Given the description of an element on the screen output the (x, y) to click on. 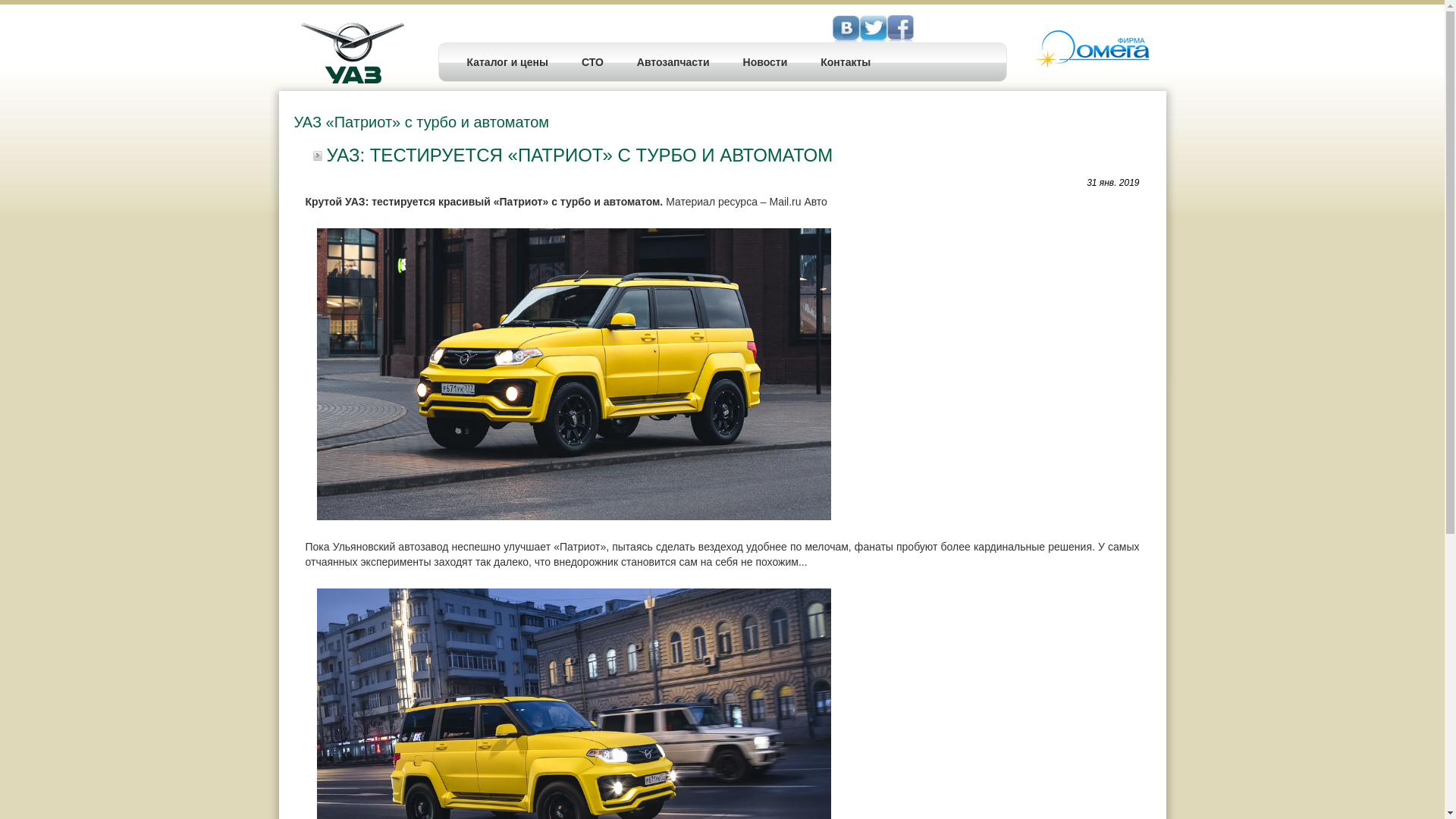
Facebook Element type: hover (872, 28)
Twitter Element type: hover (899, 28)
